Given the description of an element on the screen output the (x, y) to click on. 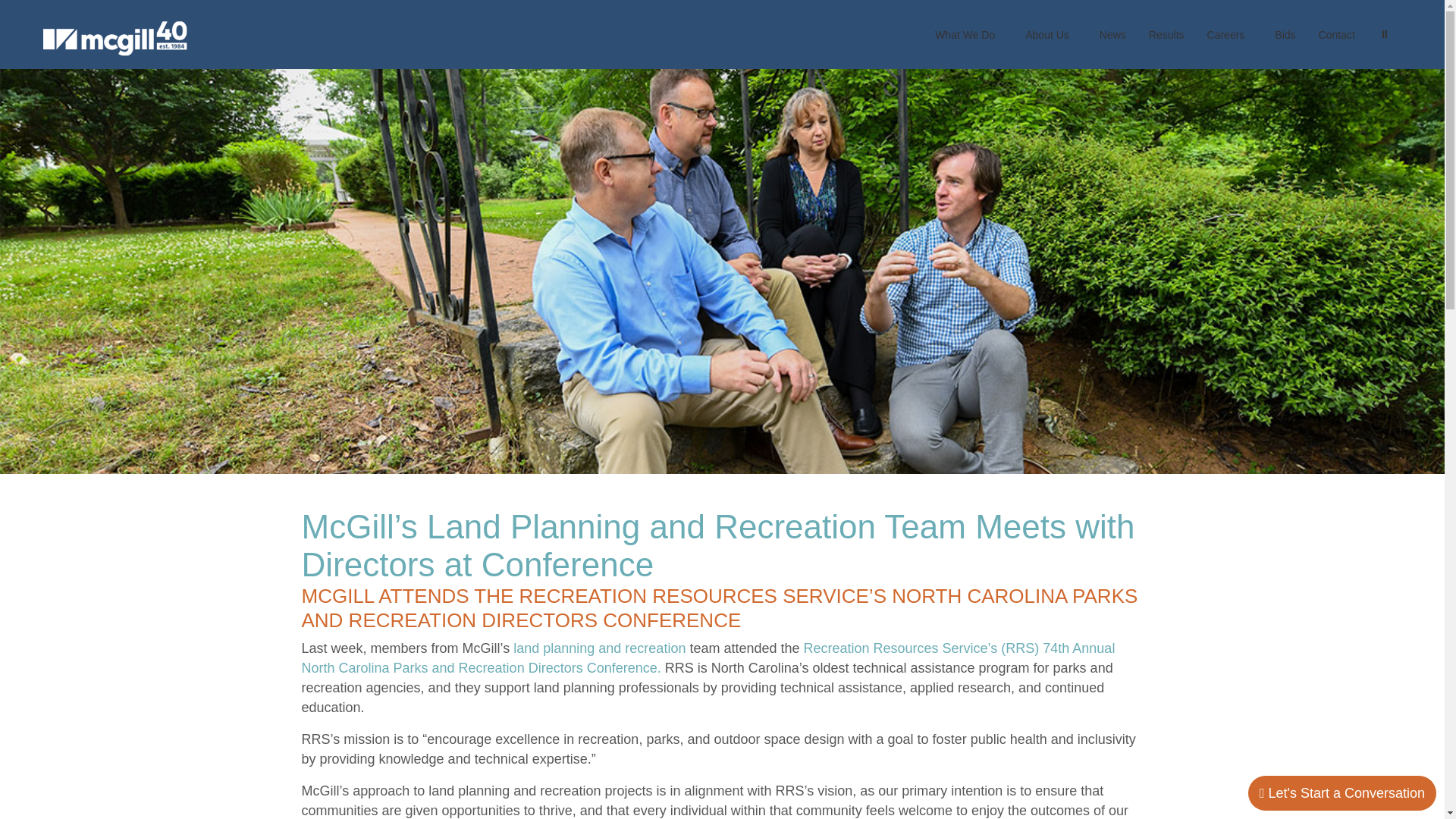
Contact (1337, 34)
land planning and recreation (599, 648)
Careers (1229, 34)
Results (1166, 34)
McGill Associates (114, 37)
What We Do (968, 34)
About Us (1050, 34)
